Given the description of an element on the screen output the (x, y) to click on. 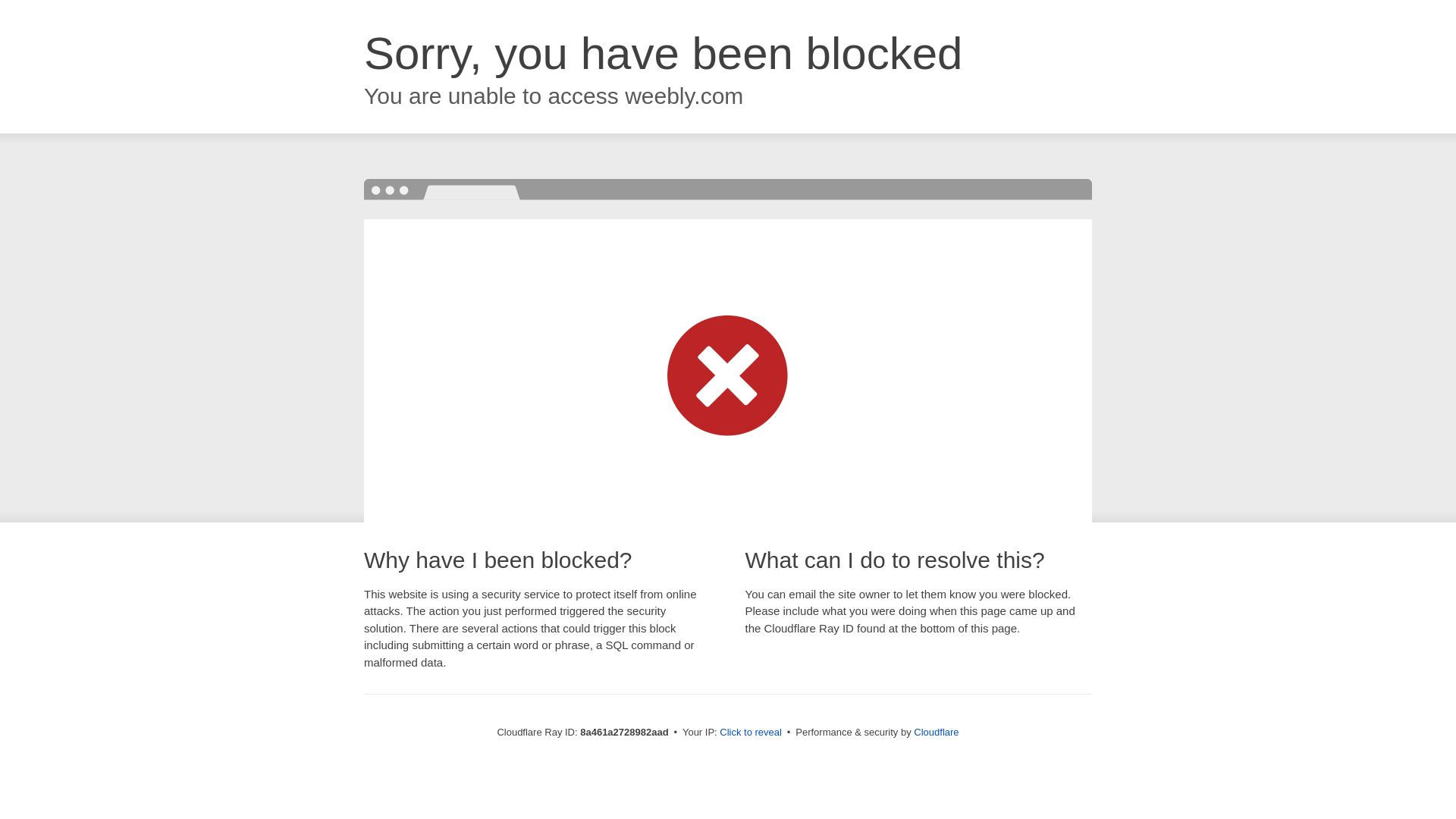
Cloudflare (936, 731)
Click to reveal (750, 732)
